Given the description of an element on the screen output the (x, y) to click on. 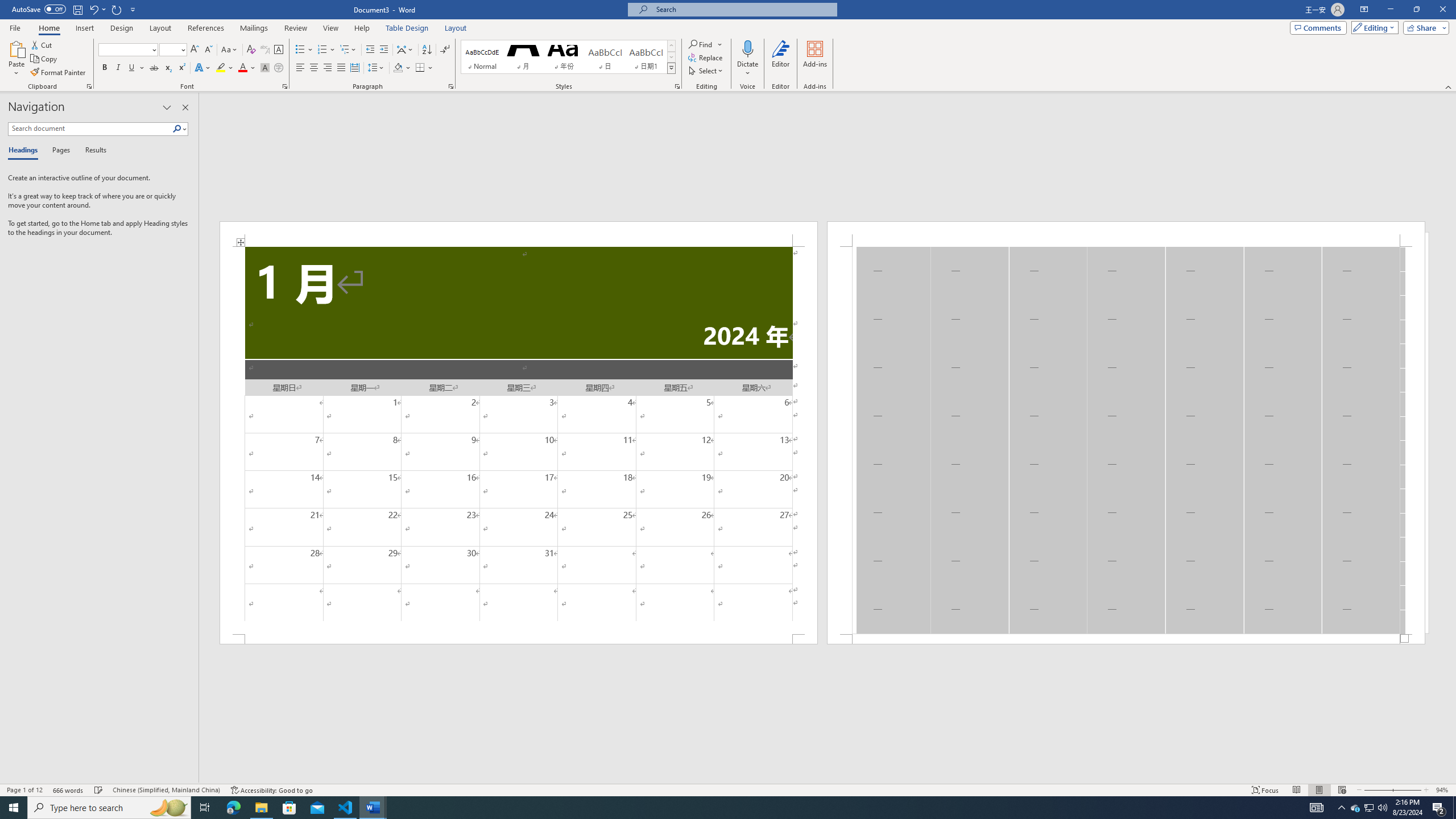
Numbering (322, 49)
Styles... (676, 85)
Pages (59, 150)
Editor (780, 58)
AutoSave (38, 9)
Paste (16, 58)
Replace... (705, 56)
Justify (340, 67)
AutomationID: QuickStylesGallery (568, 56)
Help (361, 28)
Open (182, 49)
Text Effects and Typography (202, 67)
Focus  (1265, 790)
Font Color RGB(255, 0, 0) (241, 67)
